Given the description of an element on the screen output the (x, y) to click on. 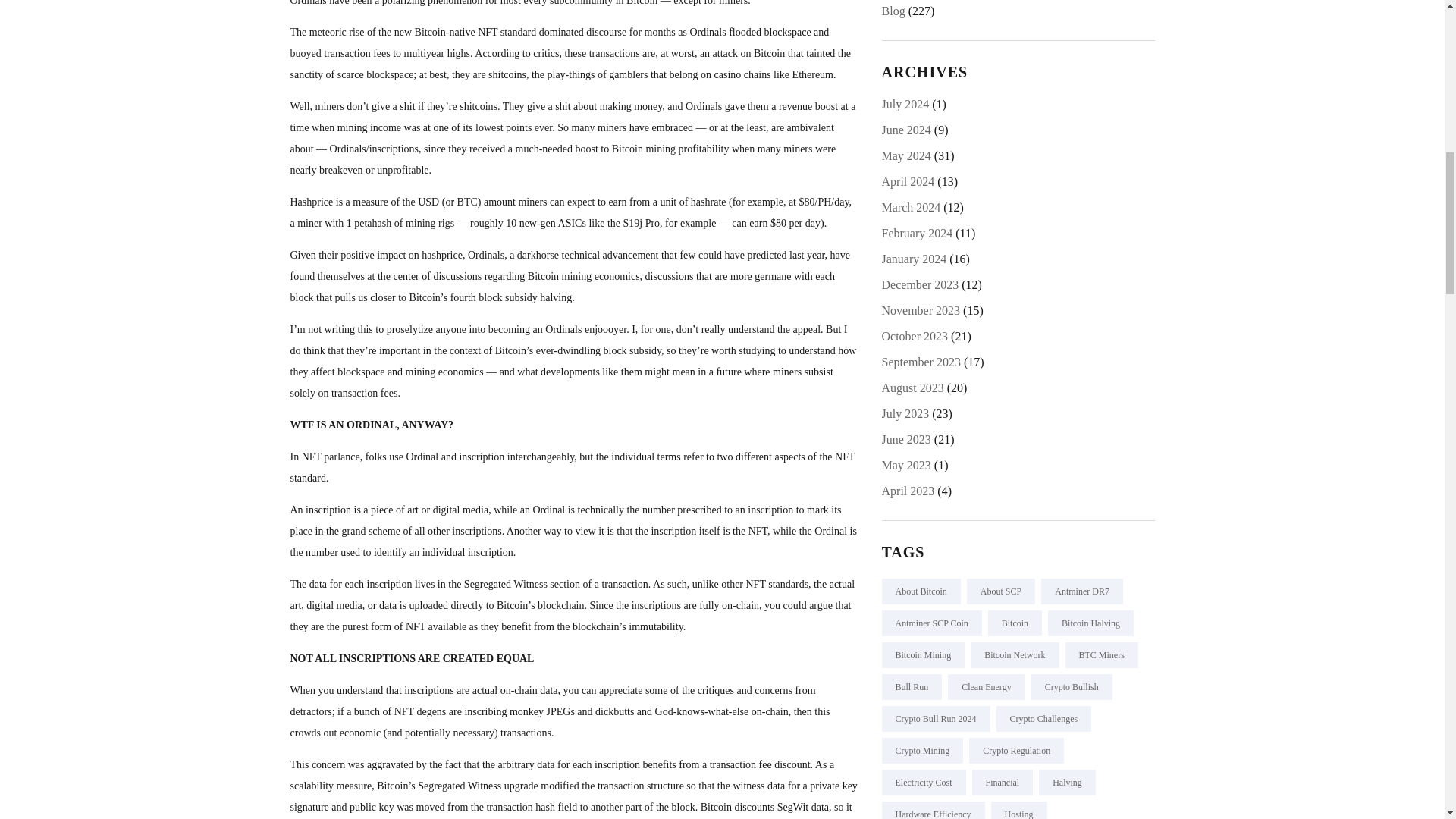
mining rigs (430, 223)
 BTC (465, 202)
